Given the description of an element on the screen output the (x, y) to click on. 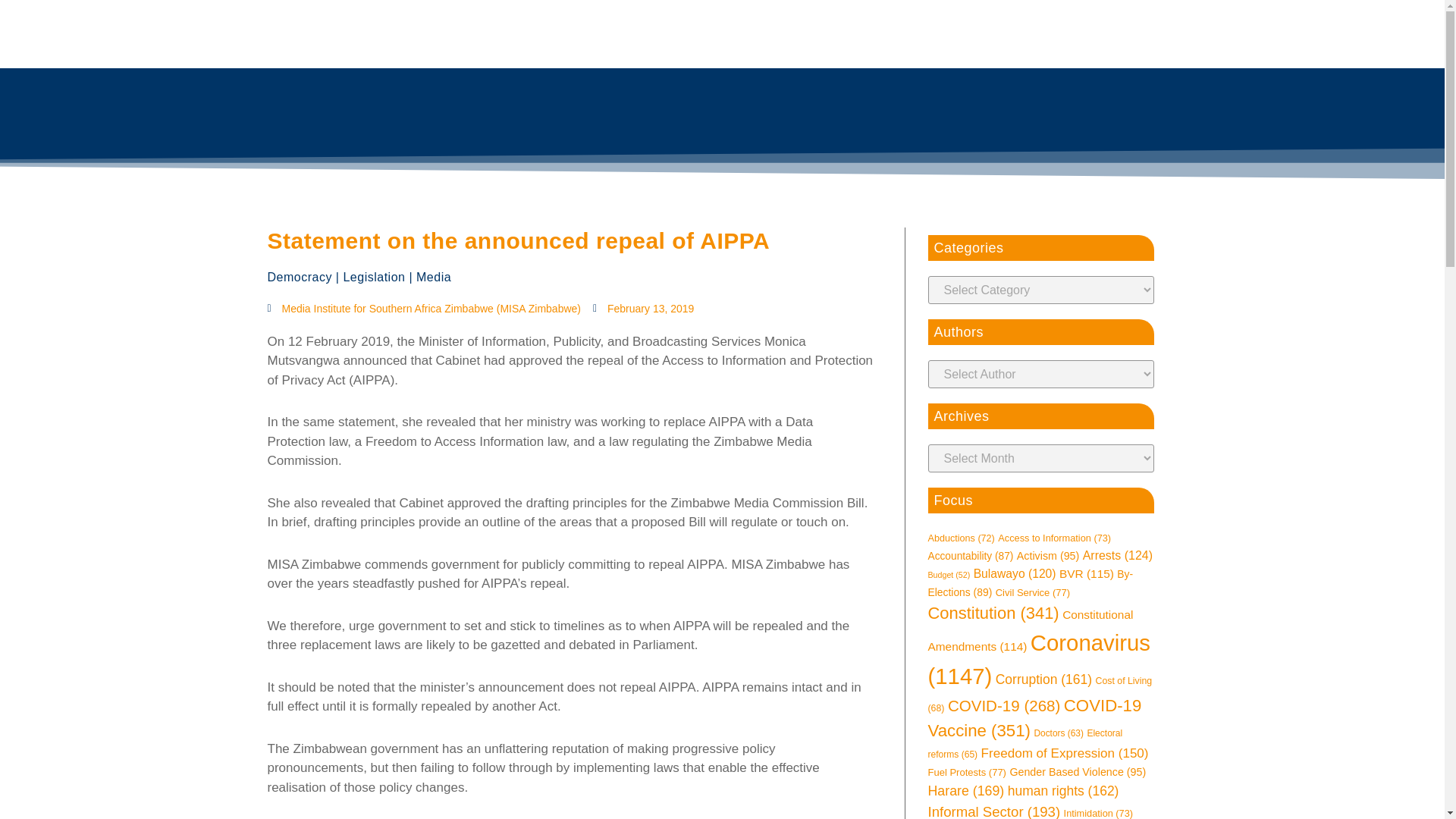
Legislation (373, 277)
February 13, 2019 (643, 308)
Media (433, 277)
Democracy (298, 277)
